Given the description of an element on the screen output the (x, y) to click on. 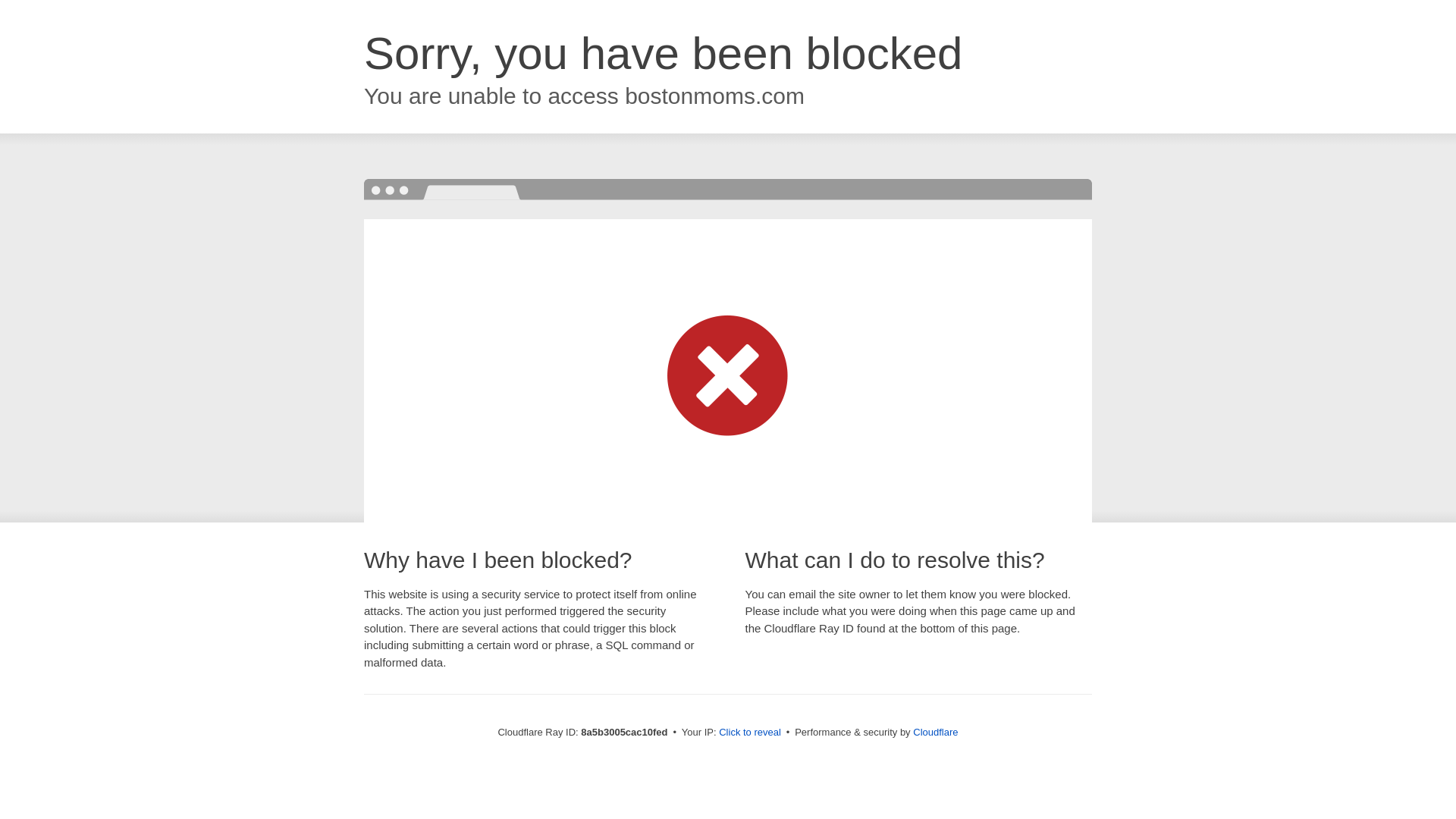
Cloudflare (935, 731)
Click to reveal (749, 732)
